Given the description of an element on the screen output the (x, y) to click on. 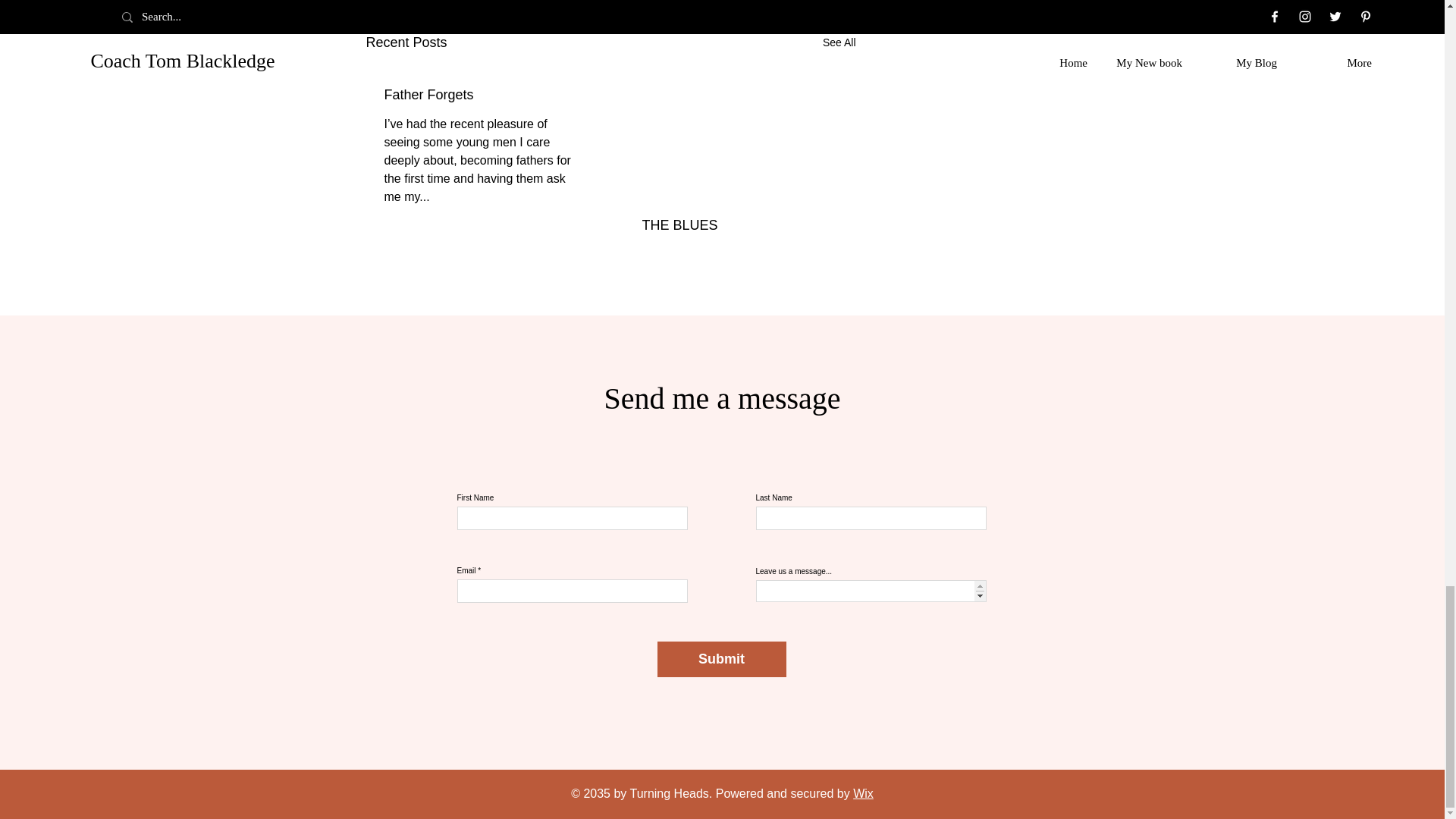
Submit (721, 659)
See All (839, 42)
THE BLUES (739, 225)
Father Forgets (481, 94)
Wix (863, 793)
